Given the description of an element on the screen output the (x, y) to click on. 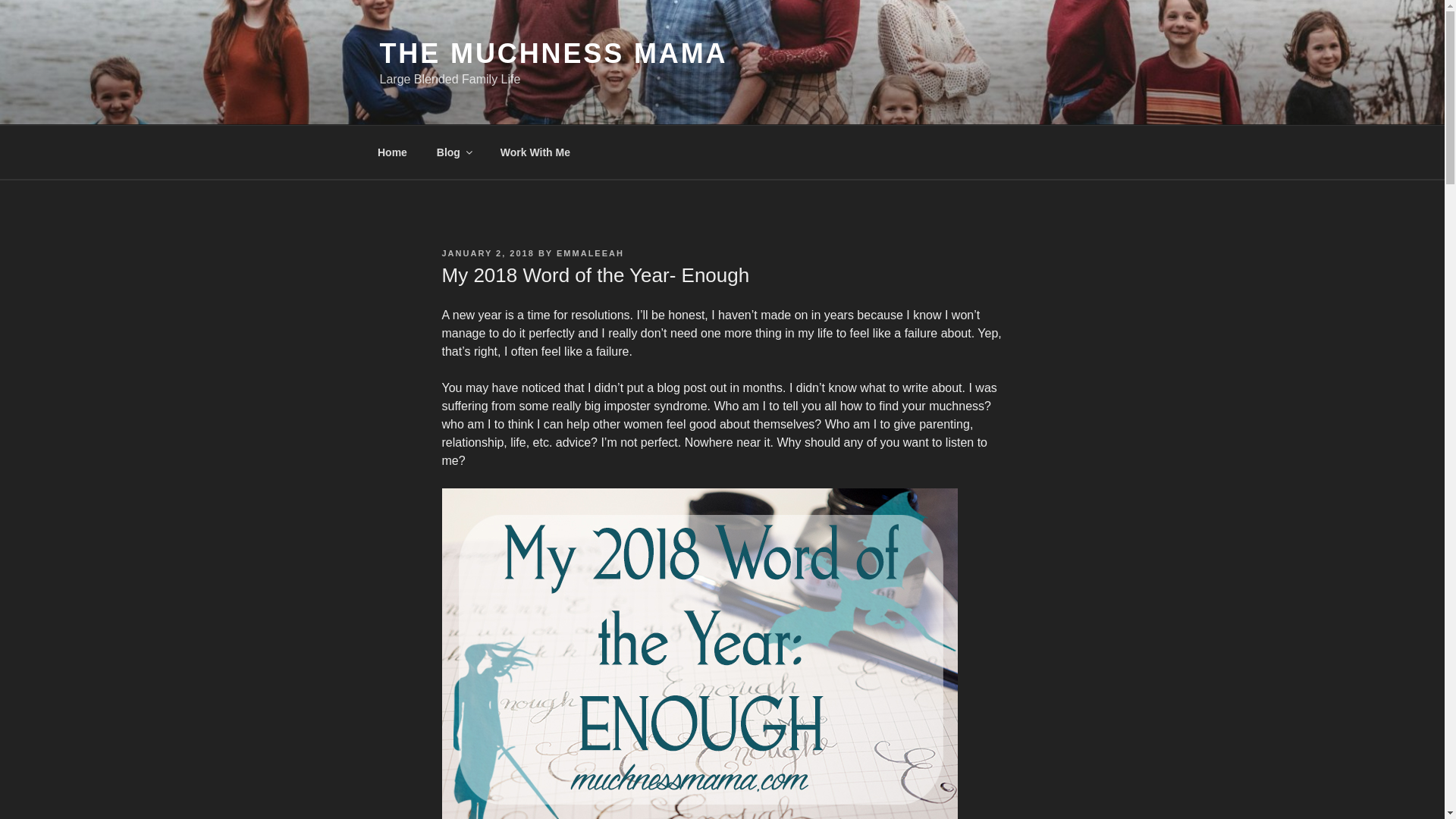
THE MUCHNESS MAMA (552, 52)
Blog (453, 151)
Work With Me (534, 151)
JANUARY 2, 2018 (487, 252)
Home (392, 151)
EMMALEEAH (590, 252)
